Given the description of an element on the screen output the (x, y) to click on. 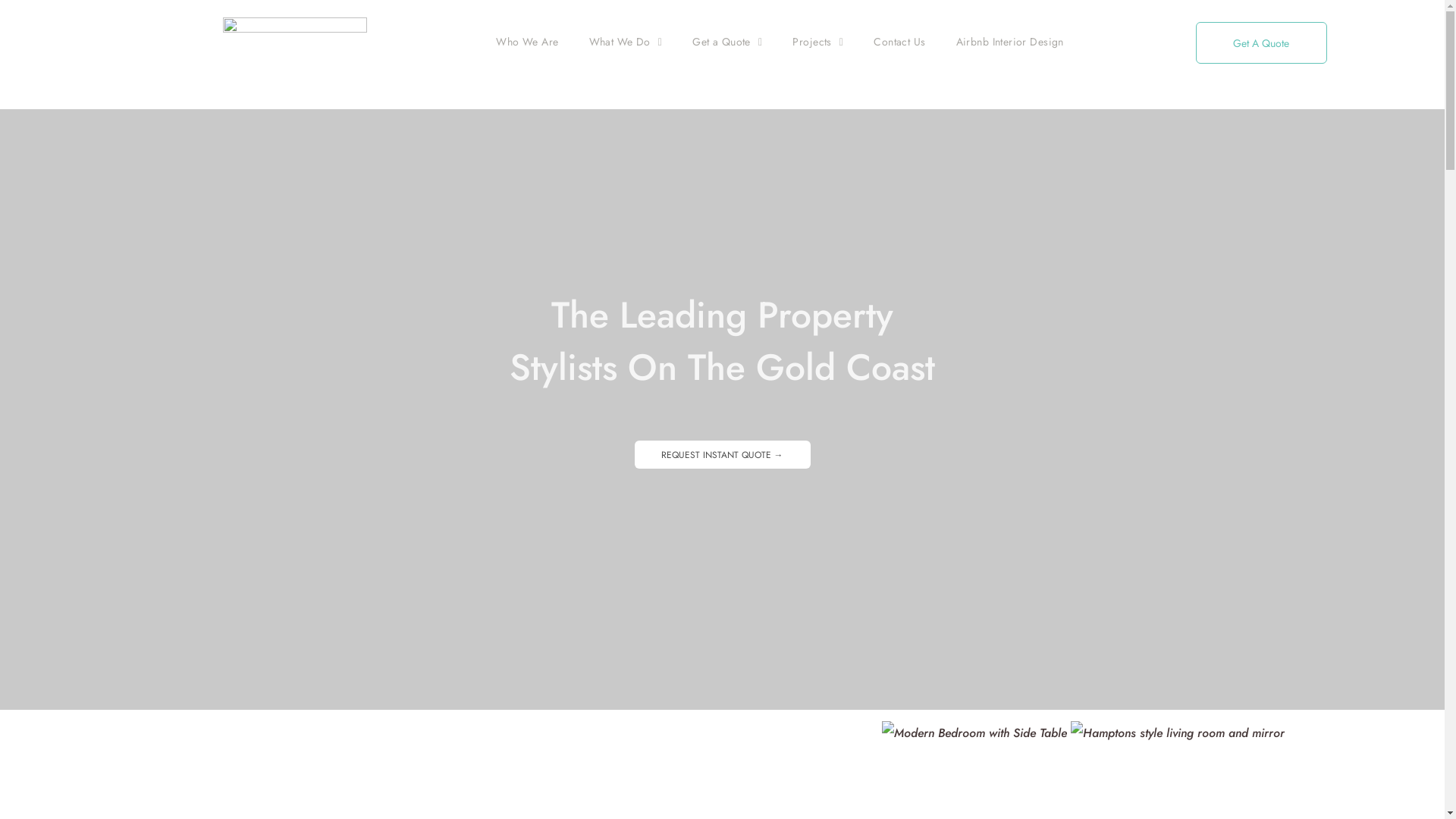
Airbnb Interior Design Element type: text (1010, 41)
The Leading Property Element type: text (722, 314)
Stylists On The Gold Coast Element type: text (722, 367)
Projects Element type: text (817, 41)
Get a Quote Element type: text (727, 41)
What We Do Element type: text (625, 41)
Who We Are Element type: text (526, 41)
Contact Us Element type: text (899, 41)
Get A Quote Element type: text (1261, 42)
